Given the description of an element on the screen output the (x, y) to click on. 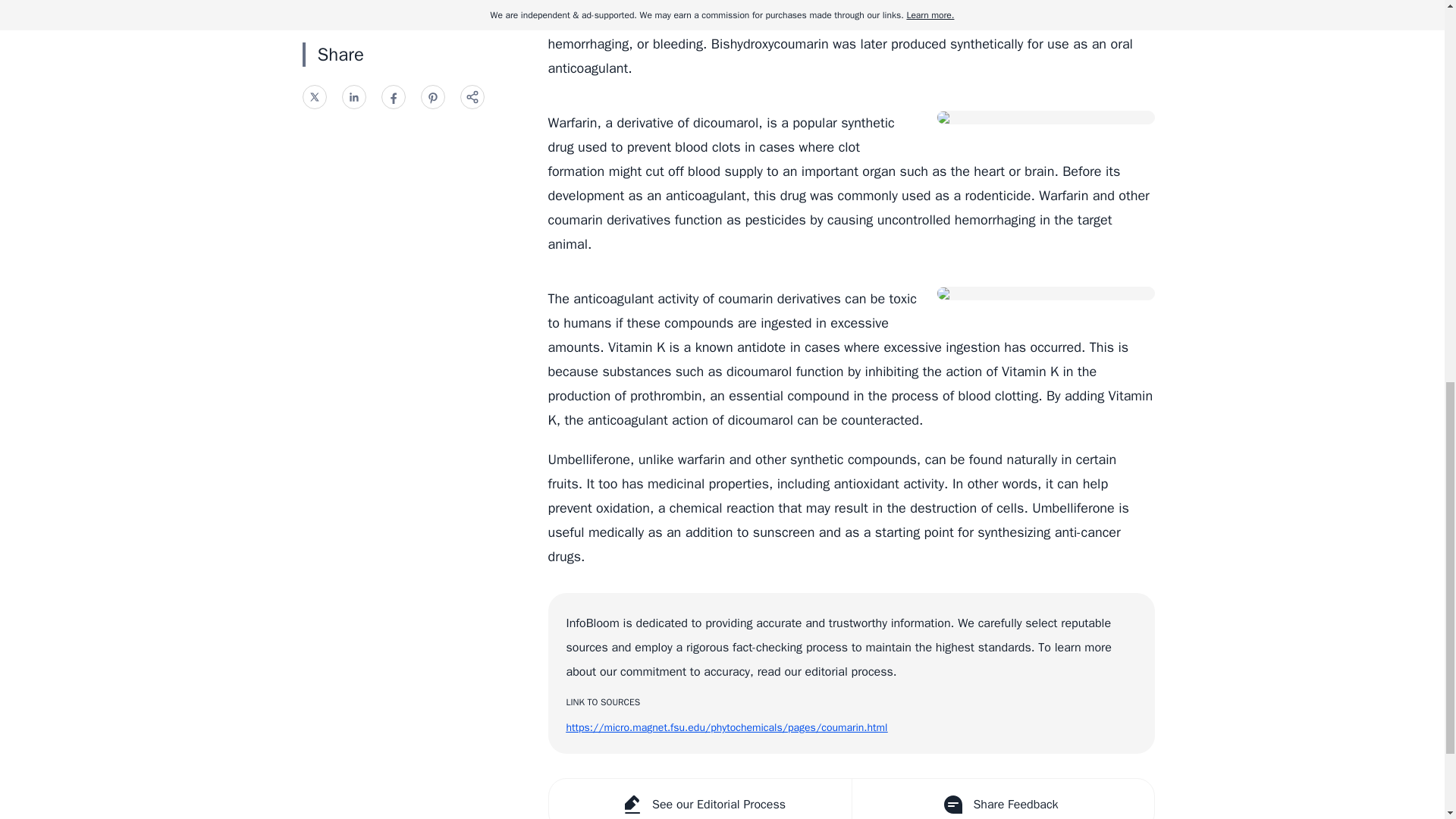
See our Editorial Process (699, 798)
Share Feedback (1001, 798)
